Given the description of an element on the screen output the (x, y) to click on. 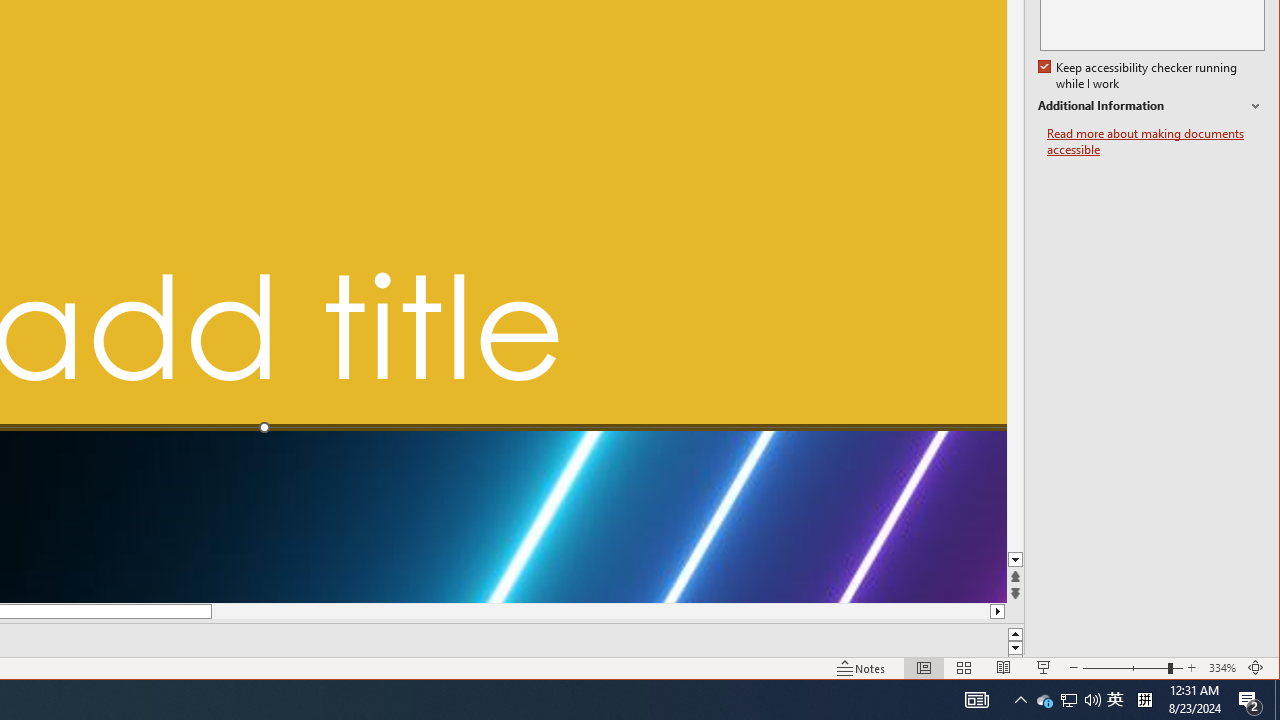
Show desktop (1277, 699)
Notification Chevron (1020, 699)
User Promoted Notification Area (1068, 699)
Read more about making documents accessible (1044, 699)
Tray Input Indicator - Chinese (Simplified, China) (1155, 142)
Zoom In (1144, 699)
AutomationID: 4105 (1191, 668)
Zoom (976, 699)
Action Center, 2 new notifications (1115, 699)
Notes  (1132, 668)
Reading View (1250, 699)
Line down (861, 668)
